Given the description of an element on the screen output the (x, y) to click on. 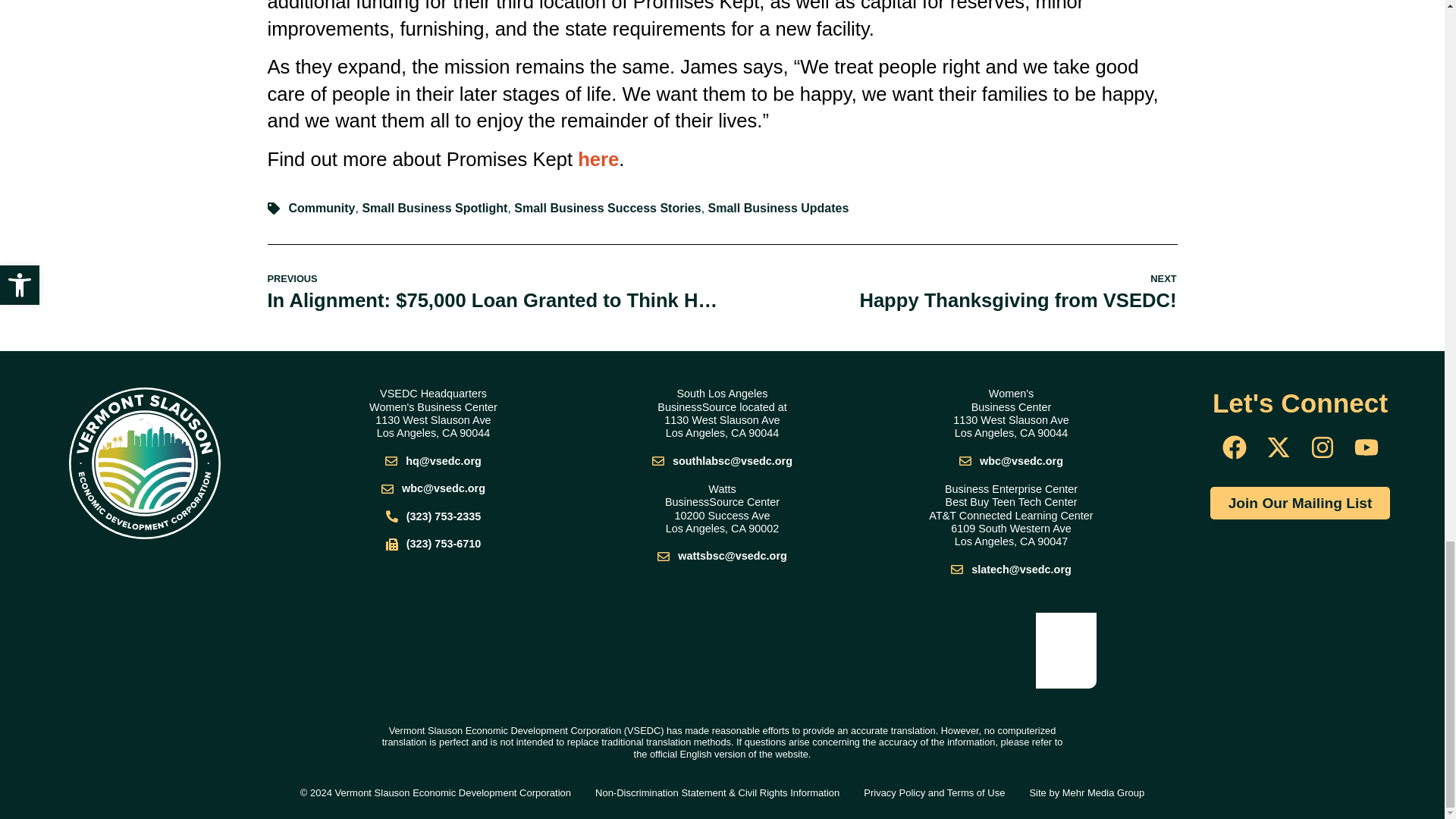
Fax (433, 461)
Fax (433, 488)
Fax (1010, 461)
Fax (722, 461)
Fax (722, 555)
